Given the description of an element on the screen output the (x, y) to click on. 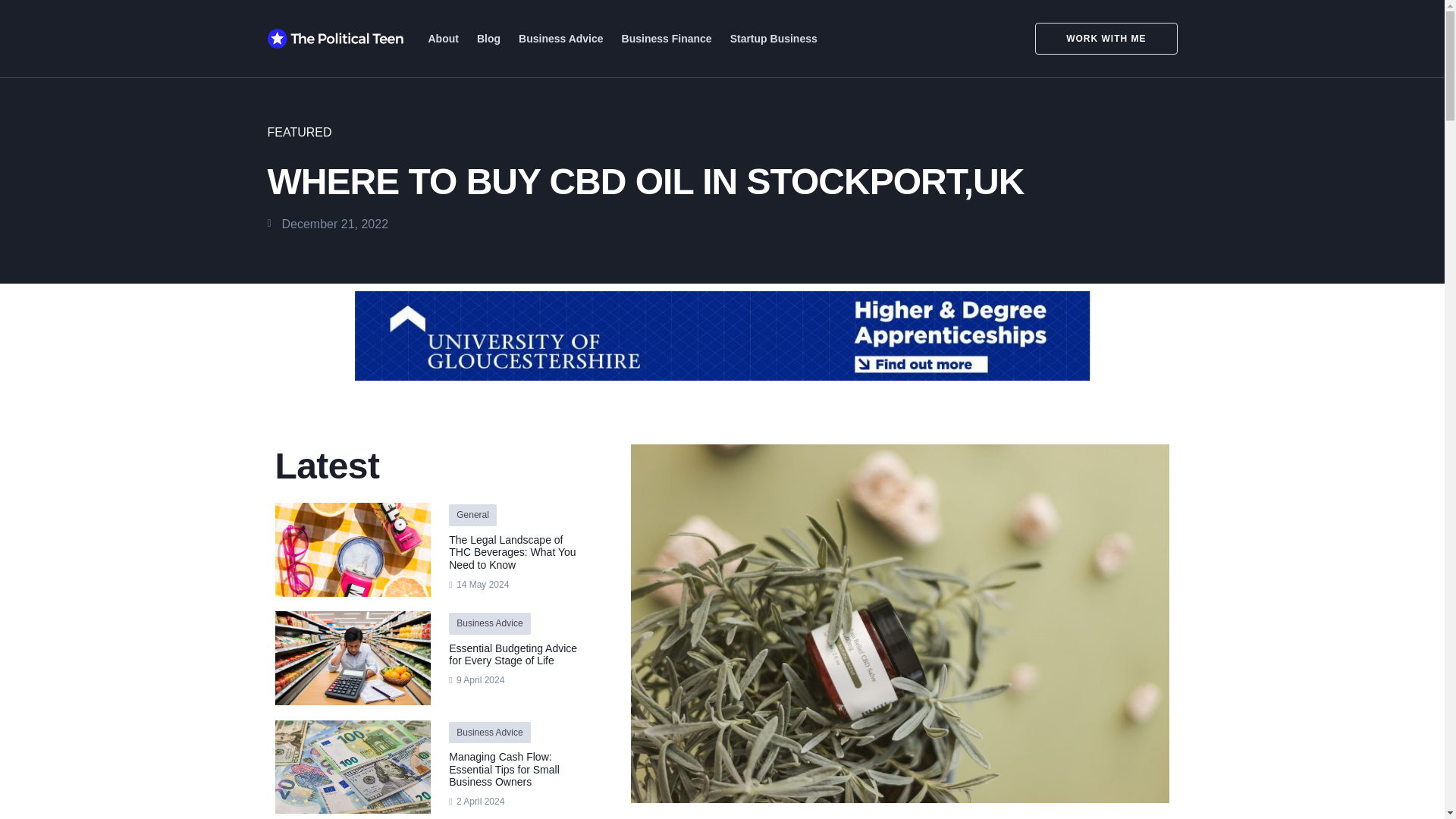
FEATURED (298, 132)
General (473, 514)
WORK WITH ME (1096, 38)
December 21, 2022 (327, 223)
Startup Business (773, 38)
Business Advice (560, 38)
Business Finance (666, 38)
About (443, 38)
The Legal Landscape of THC Beverages: What You Need to Know (511, 552)
Managing Cash Flow: Essential Tips for Small Business Owners (503, 769)
Essential Budgeting Advice for Every Stage of Life (512, 654)
Business Advice (489, 623)
Business Advice (489, 732)
